Given the description of an element on the screen output the (x, y) to click on. 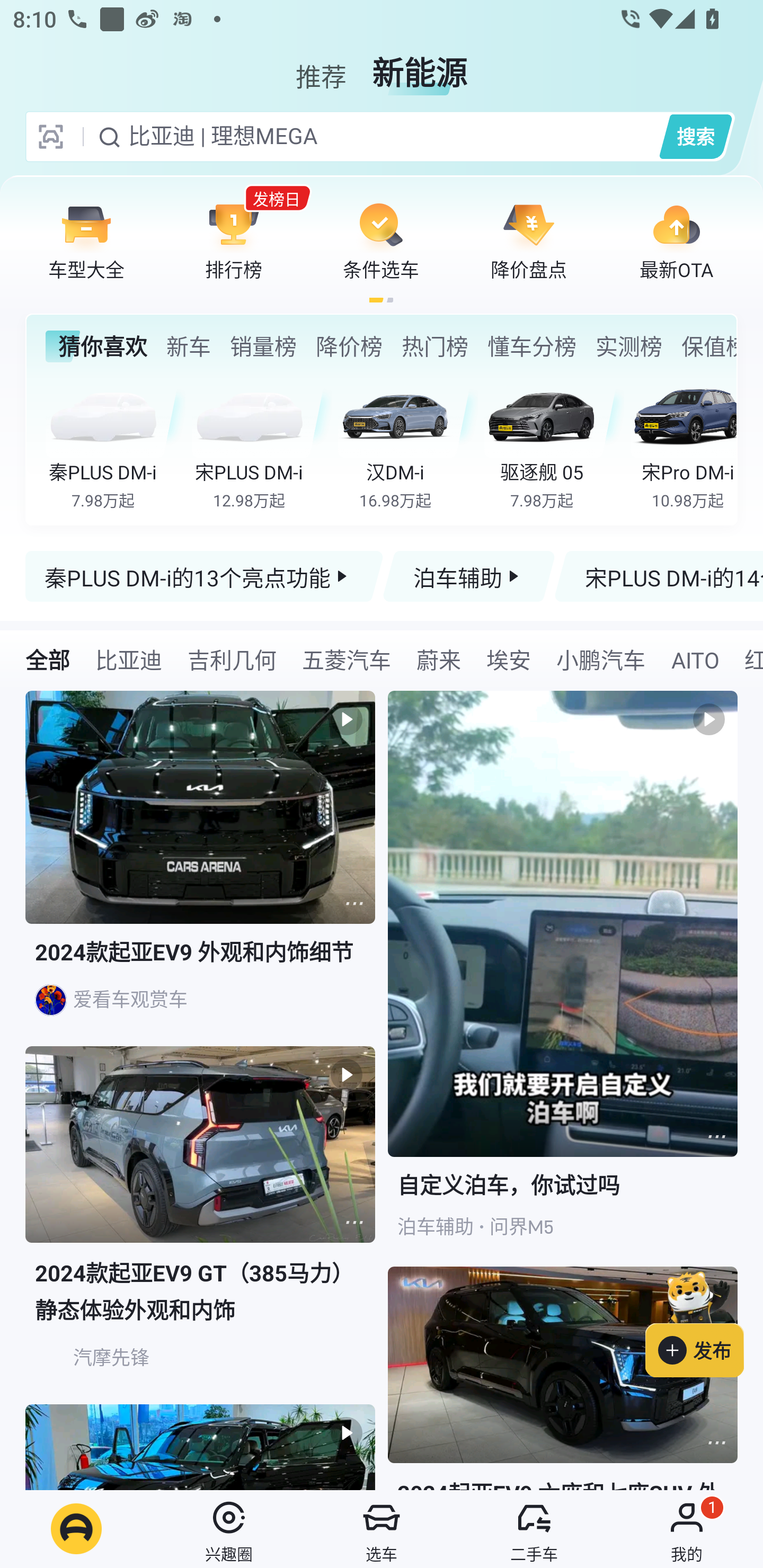
推荐 (321, 65)
新能源 (419, 65)
搜索 (695, 136)
车型大全 (86, 240)
发榜日 排行榜 (233, 240)
条件选车 (380, 240)
降价盘点 (528, 240)
最新OTA (676, 240)
猜你喜欢 (96, 346)
新车 (188, 346)
销量榜 (262, 346)
降价榜 (348, 346)
热门榜 (434, 346)
懂车分榜 (531, 346)
实测榜 (628, 346)
保值榜 (708, 346)
秦PLUS DM-i 7.98万起 (115, 442)
宋PLUS DM-i 12.98万起 (261, 442)
汉DM-i 16.98万起 (407, 442)
驱逐舰 05 7.98万起 (554, 442)
宋Pro DM-i 10.98万起 (683, 442)
秦PLUS DM-i的13个亮点功能 (204, 576)
泊车辅助 (468, 576)
宋PLUS DM-i的14个亮点功能 (658, 576)
全部 (47, 659)
比亚迪 (128, 659)
吉利几何 (231, 659)
五菱汽车 (346, 659)
蔚来 (438, 659)
埃安 (508, 659)
小鹏汽车 (600, 659)
AITO (694, 659)
  2024款起亚EV9 外观和内饰细节 爱看车观赏车 (200, 868)
  自定义泊车，你试过吗 泊车辅助 问界M5 (562, 978)
 (354, 903)
  2024款起亚EV9 GT（385马力）静态体验外观和内饰 汽摩先锋 (200, 1224)
 (716, 1136)
 (354, 1222)
问界M5 (521, 1226)
发布 (704, 1320)
  2024起亚EV9 六座和七座SUV 外观和内饰细节 (562, 1377)
 (716, 1442)
 兴趣圈 (228, 1528)
 选车 (381, 1528)
 二手车 (533, 1528)
 我的 (686, 1528)
